Given the description of an element on the screen output the (x, y) to click on. 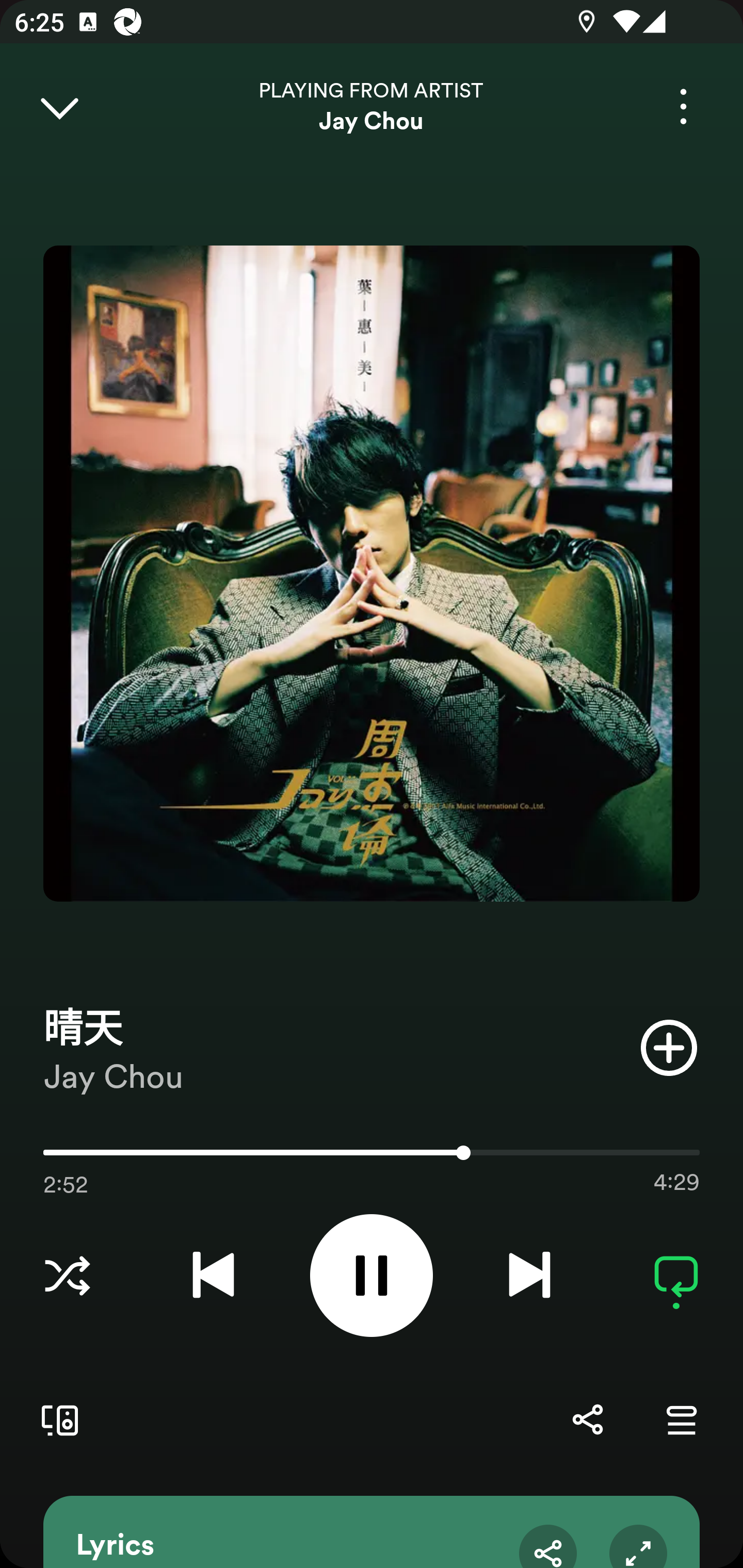
Close (59, 106)
More options for song 晴天 (683, 106)
PLAYING FROM ARTIST Jay Chou (371, 106)
Add item (669, 1046)
2:52 4:29 172235.0 Use volume keys to adjust (371, 1157)
Pause (371, 1275)
Previous (212, 1275)
Next (529, 1275)
Choose a Listening Mode (66, 1275)
Repeat (676, 1275)
Share (587, 1419)
Go to Queue (681, 1419)
Connect to a device. Opens the devices menu (55, 1419)
Lyrics Share Expand (371, 1531)
Lyrics Share Expand (371, 1531)
Share (547, 1546)
Expand (638, 1546)
